Given the description of an element on the screen output the (x, y) to click on. 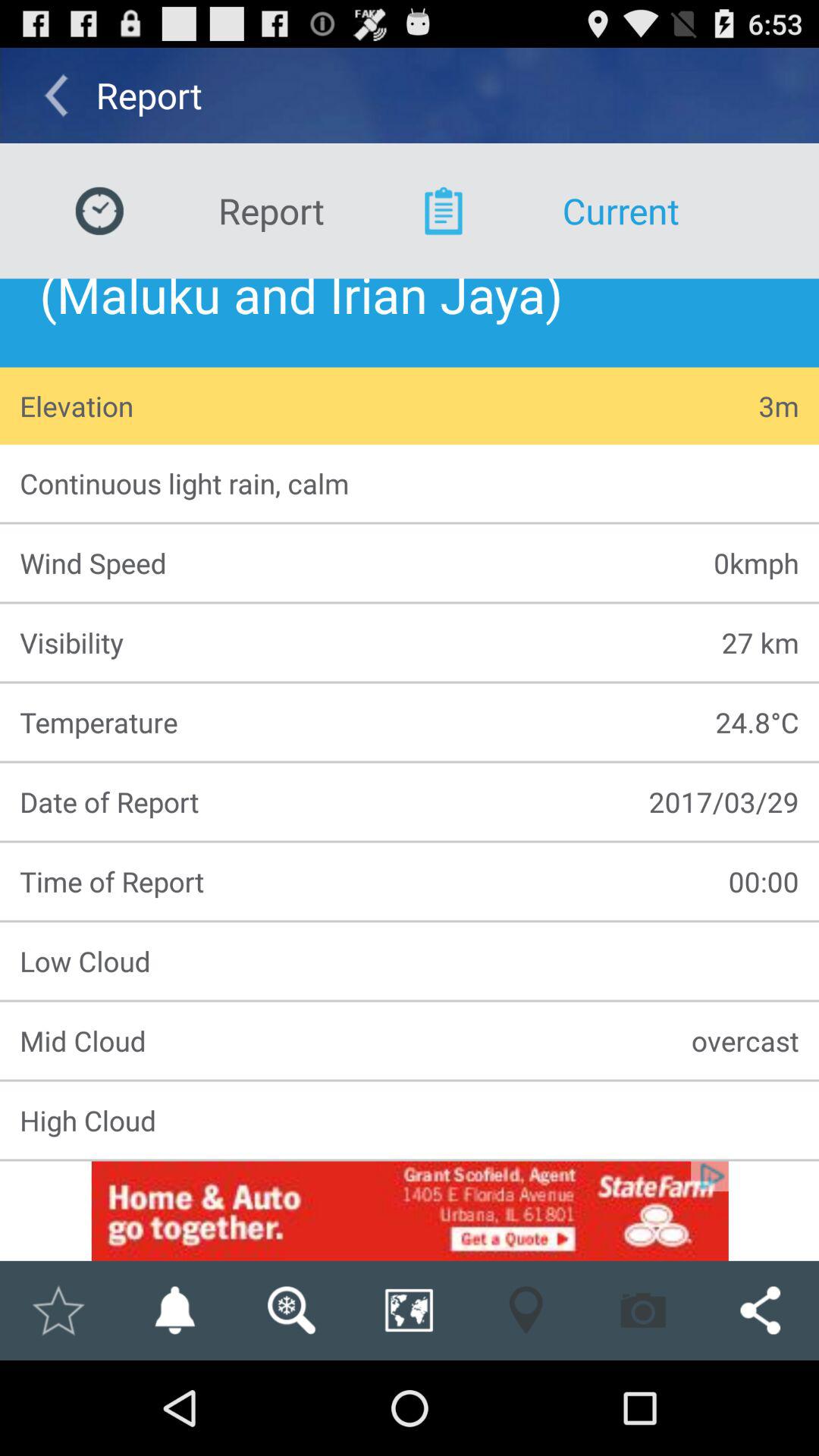
menu page (409, 1210)
